Given the description of an element on the screen output the (x, y) to click on. 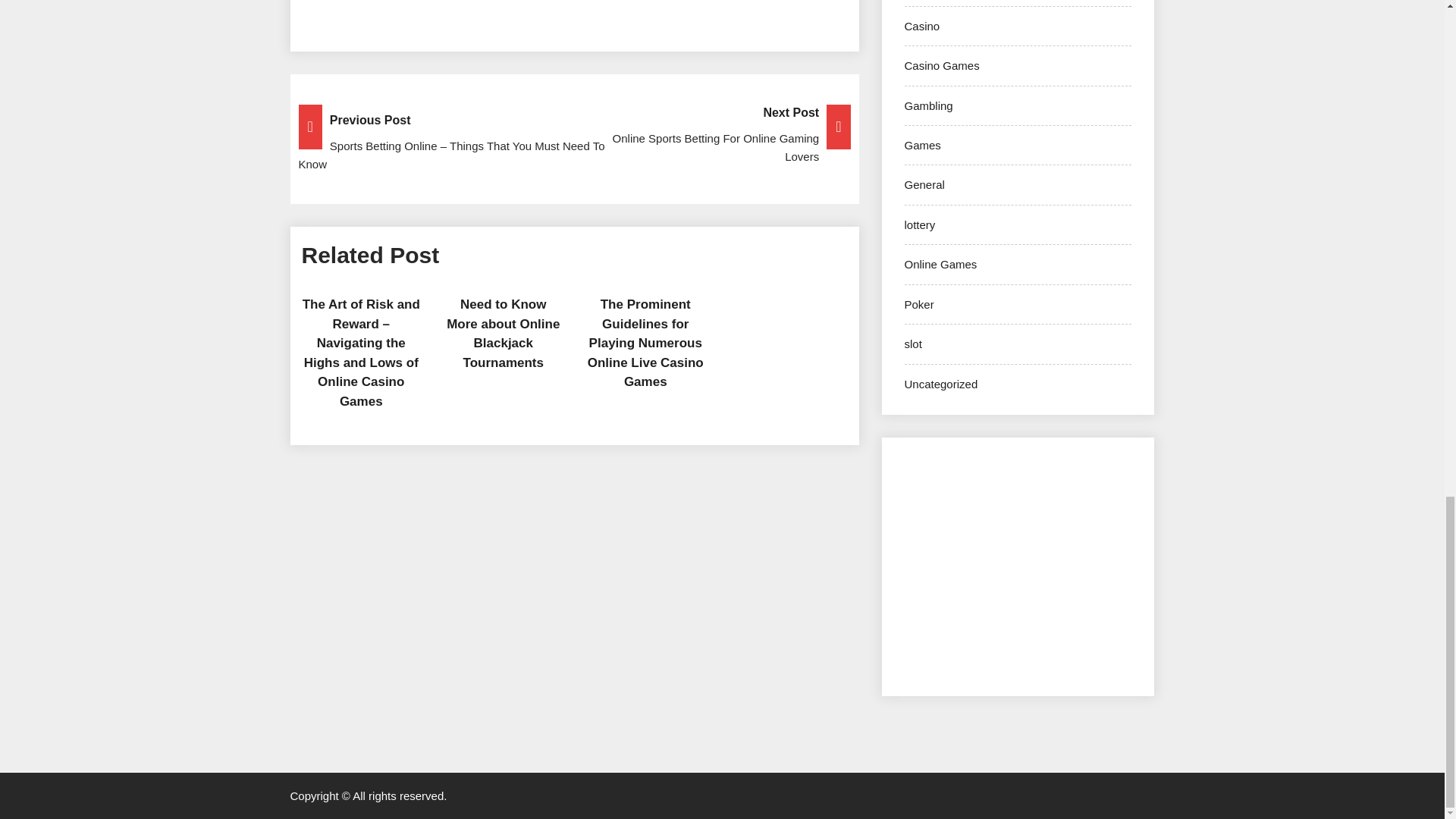
General (923, 184)
lottery (919, 224)
Casino Games (941, 65)
Games (922, 144)
Poker (918, 304)
Online Games (940, 264)
slot (912, 343)
Casino (574, 135)
Gambling (921, 25)
Need to Know More about Online Blackjack Tournaments (928, 105)
Uncategorized (502, 333)
